Given the description of an element on the screen output the (x, y) to click on. 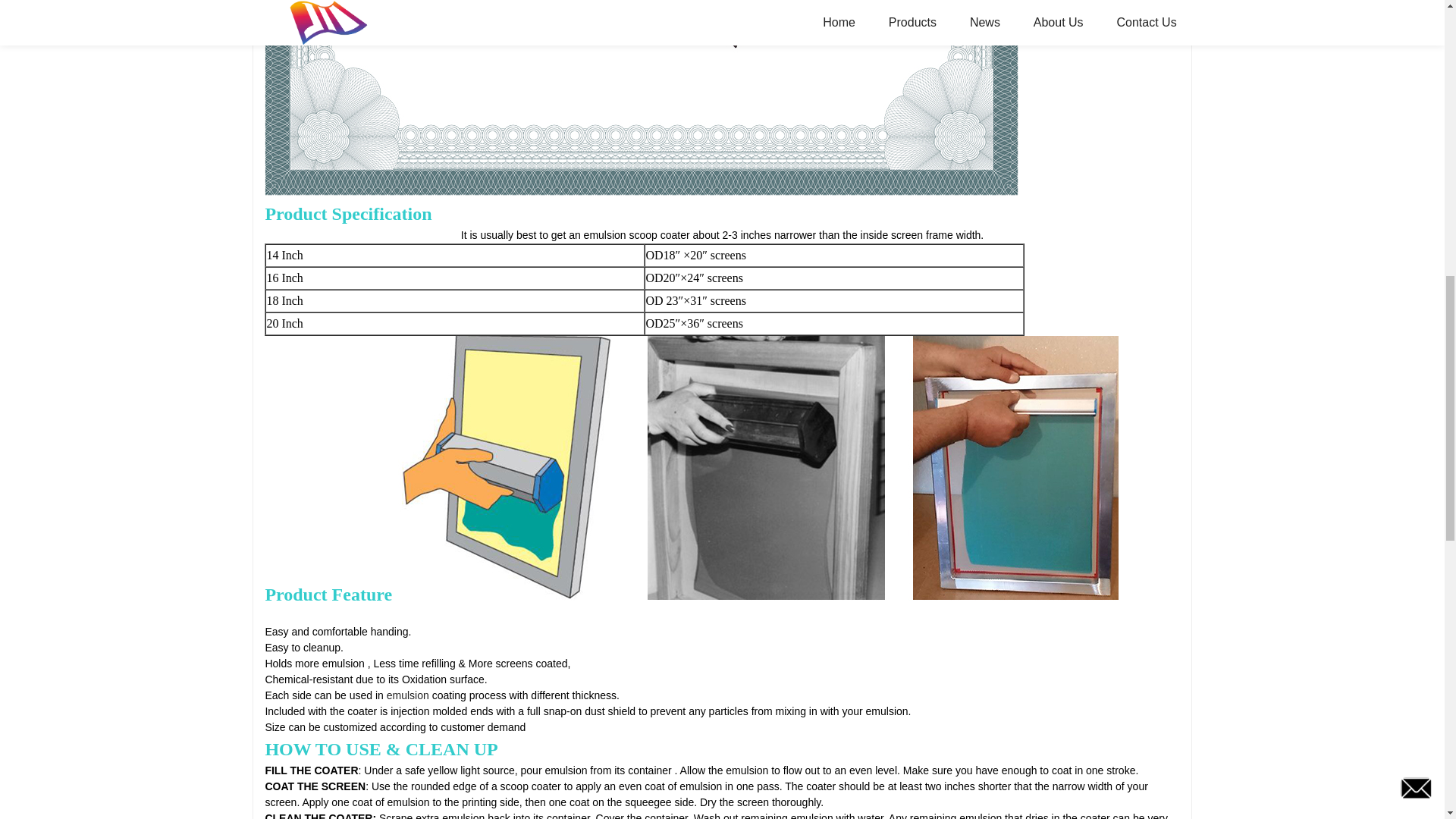
emulsion (408, 695)
